Given the description of an element on the screen output the (x, y) to click on. 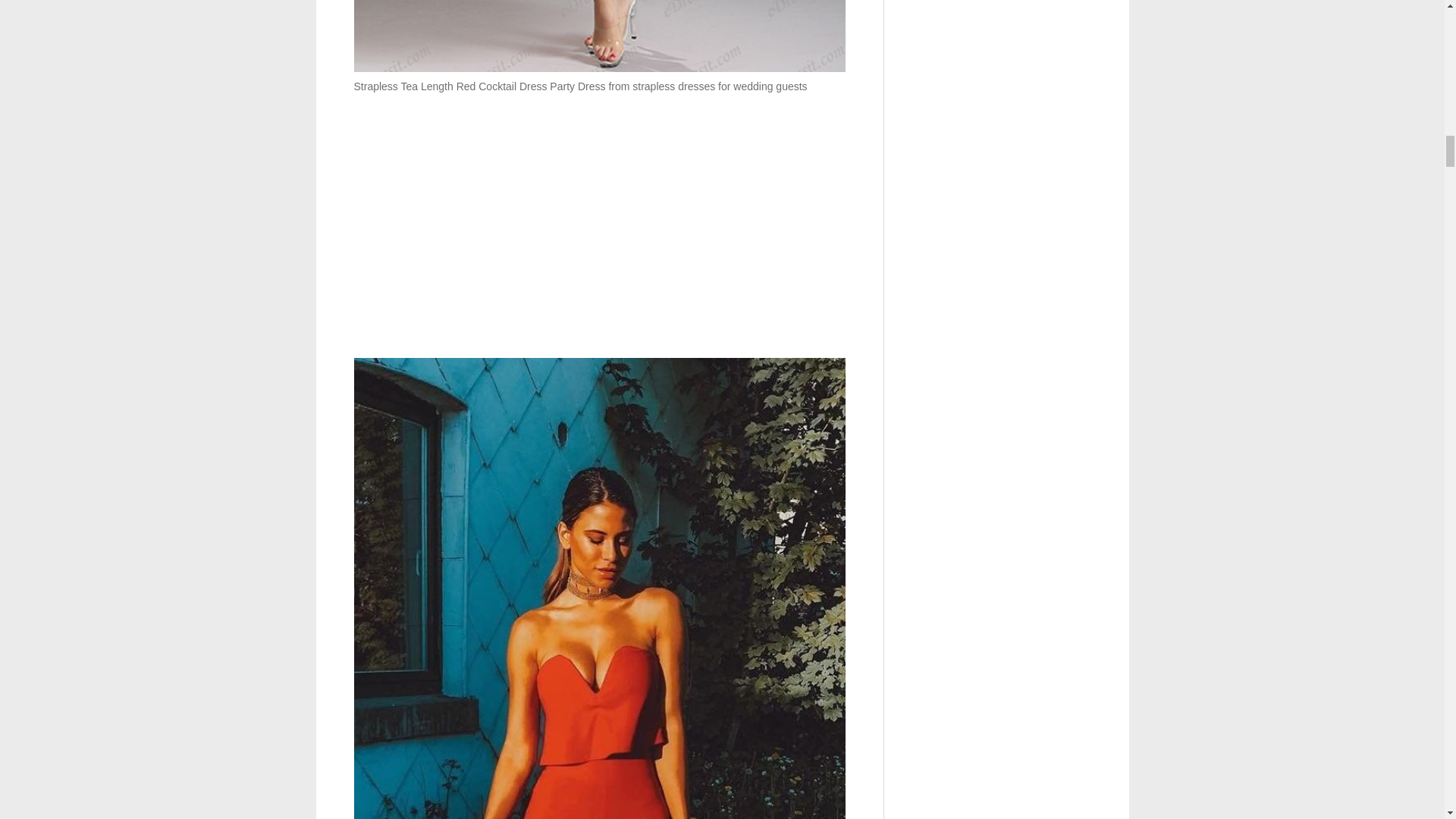
Strapless Tea Length Red Cocktail Dress Party Dress (598, 36)
